Given the description of an element on the screen output the (x, y) to click on. 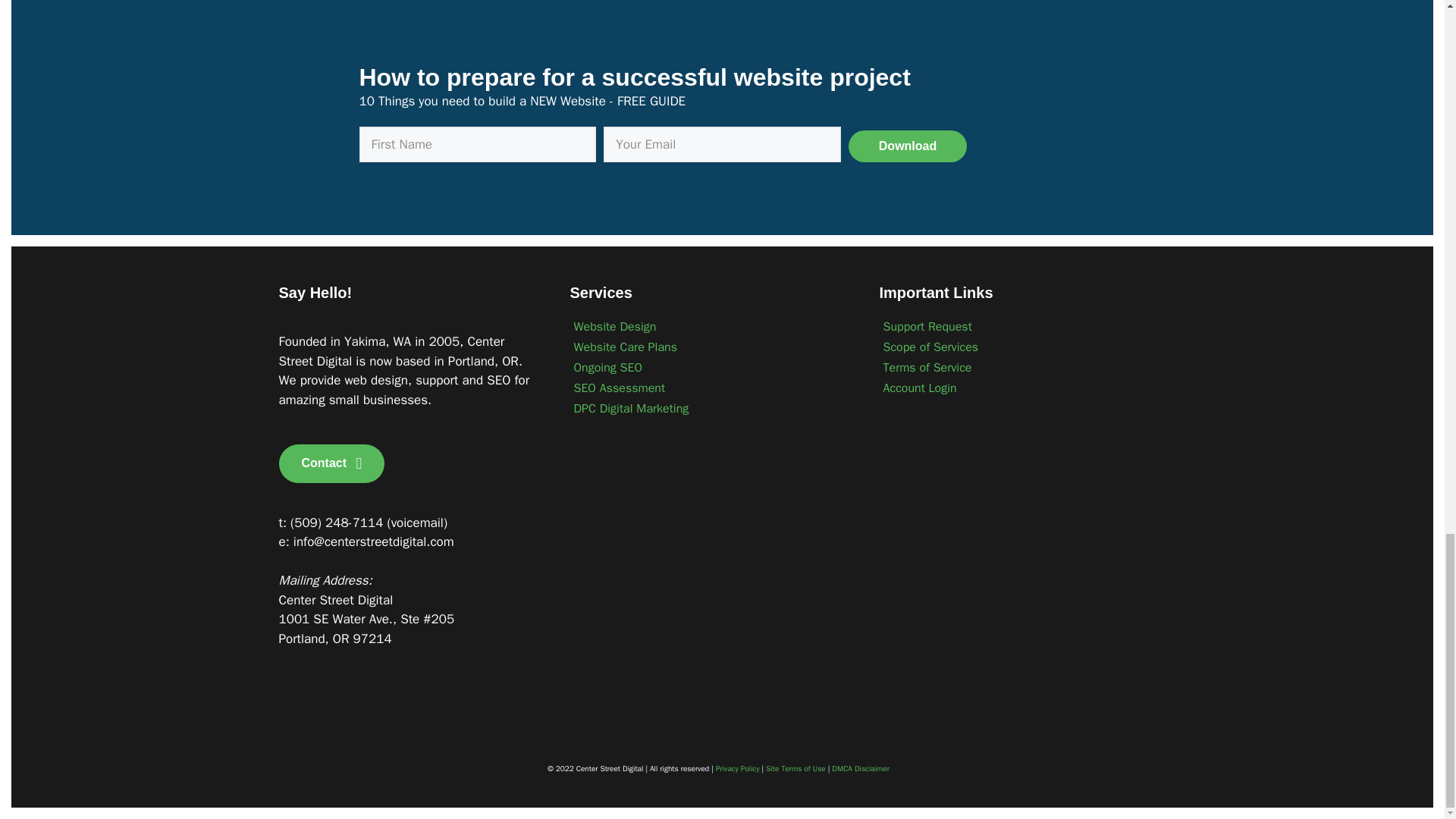
DMCA Disclaimer (860, 768)
SEO Assessment (709, 388)
DPC Digital Marketing (709, 408)
Download (907, 146)
Website Design (709, 326)
Terms of Service (1016, 367)
Scope of Services (1016, 347)
Contact (332, 463)
Privacy Policy (738, 768)
Site Terms of Use (795, 768)
